Given the description of an element on the screen output the (x, y) to click on. 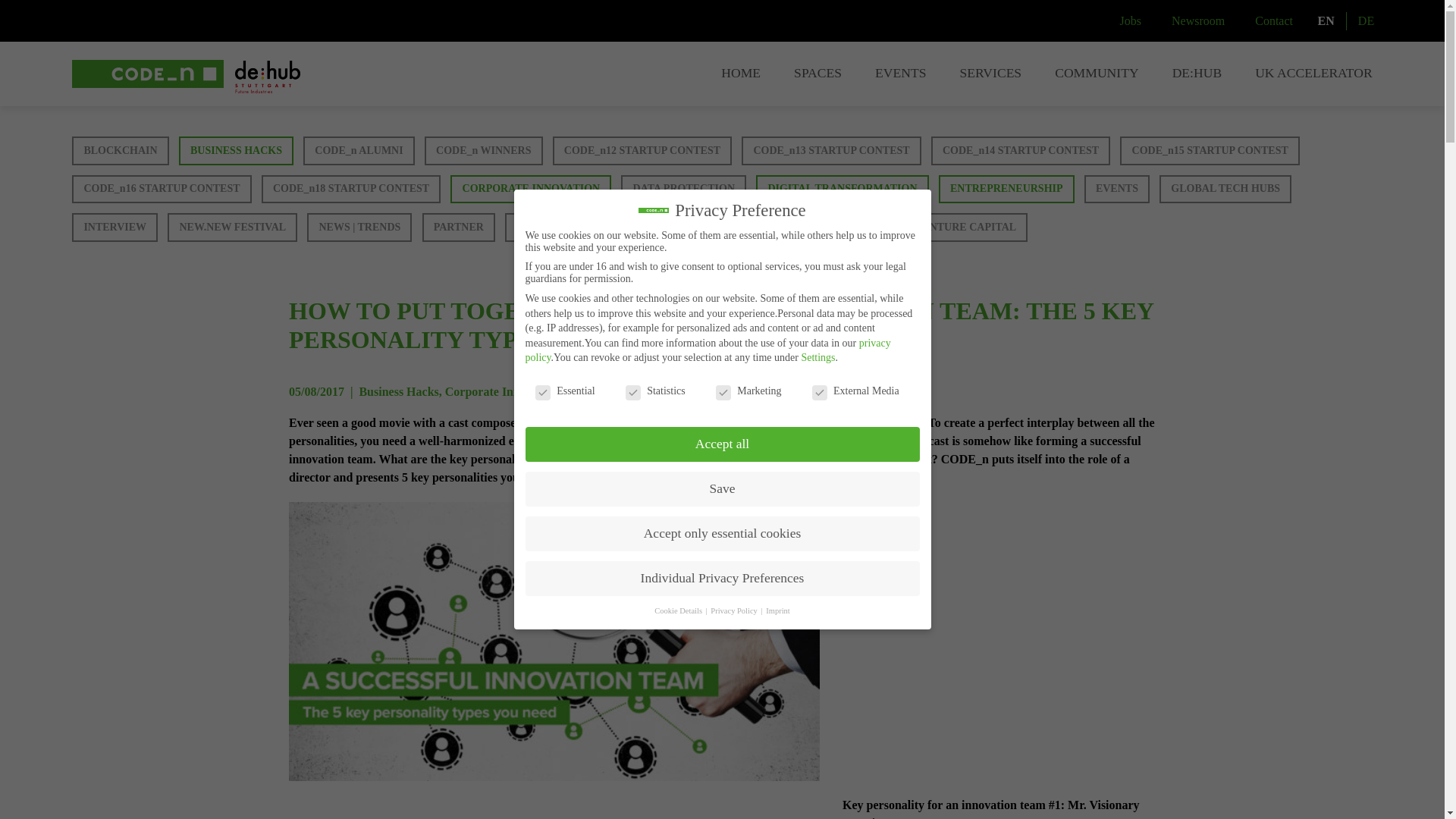
BLOCKCHAIN (119, 150)
HOME (740, 74)
SERVICES (990, 74)
CORPORATE INNOVATION (530, 189)
EVENTS (1117, 189)
UK ACCELERATOR (1314, 74)
DIGITAL TRANSFORMATION (841, 189)
NEW.NEW FESTIVAL (232, 226)
PARTNER (458, 226)
DE:HUB (1197, 74)
EVENTS (900, 74)
BUSINESS HACKS (236, 150)
SPACES (817, 74)
GLOBAL TECH HUBS (1224, 189)
ENTREPRENEURSHIP (1006, 189)
